Given the description of an element on the screen output the (x, y) to click on. 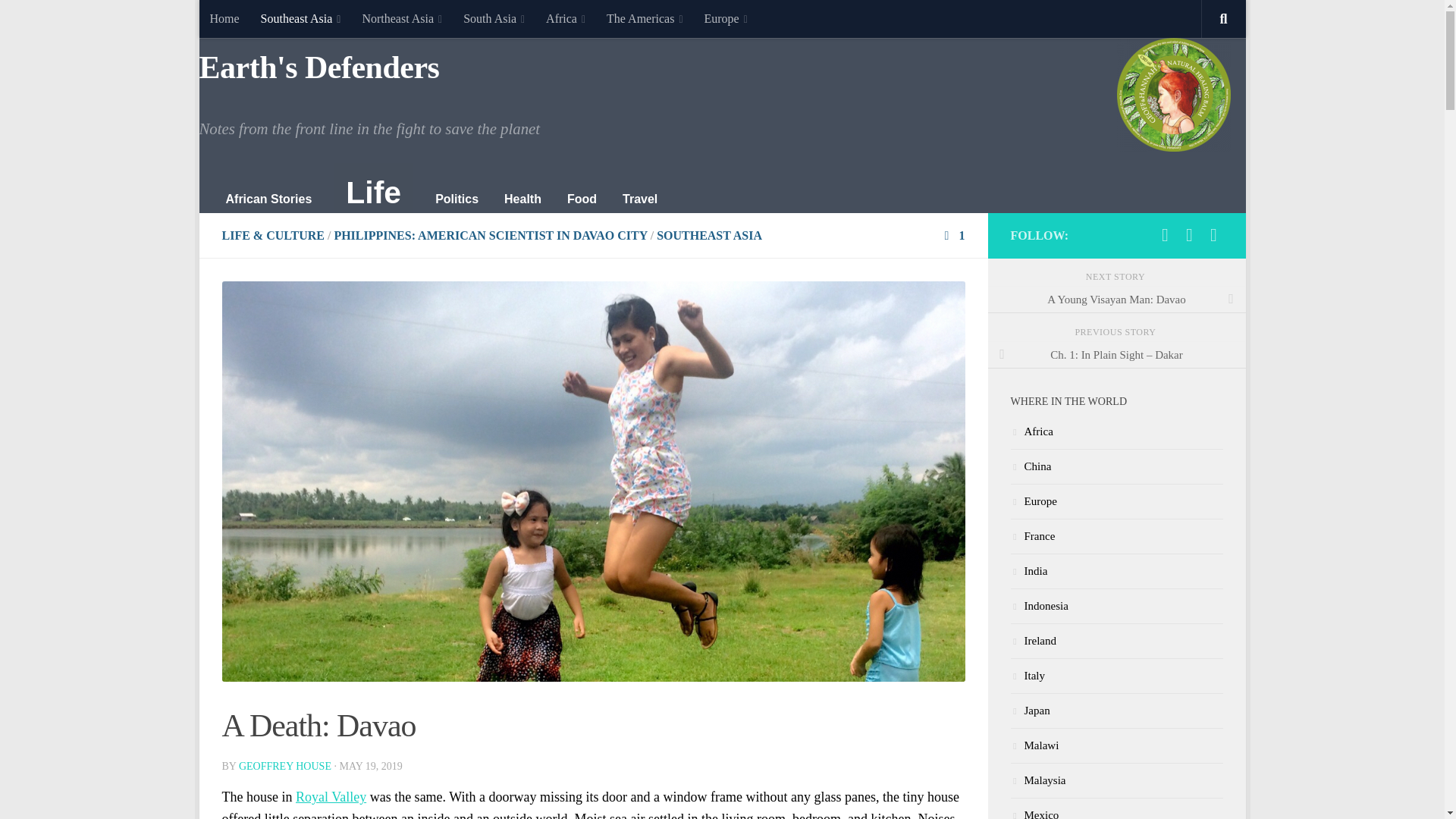
Skip to content (258, 20)
Follow us on Linkedin (1213, 235)
Home (223, 18)
Southeast Asia (301, 18)
Northeast Asia (401, 18)
Follow us on Twitter (1188, 235)
Follow us on Facebook (1164, 235)
Posts by Geoffrey House (284, 766)
